Given the description of an element on the screen output the (x, y) to click on. 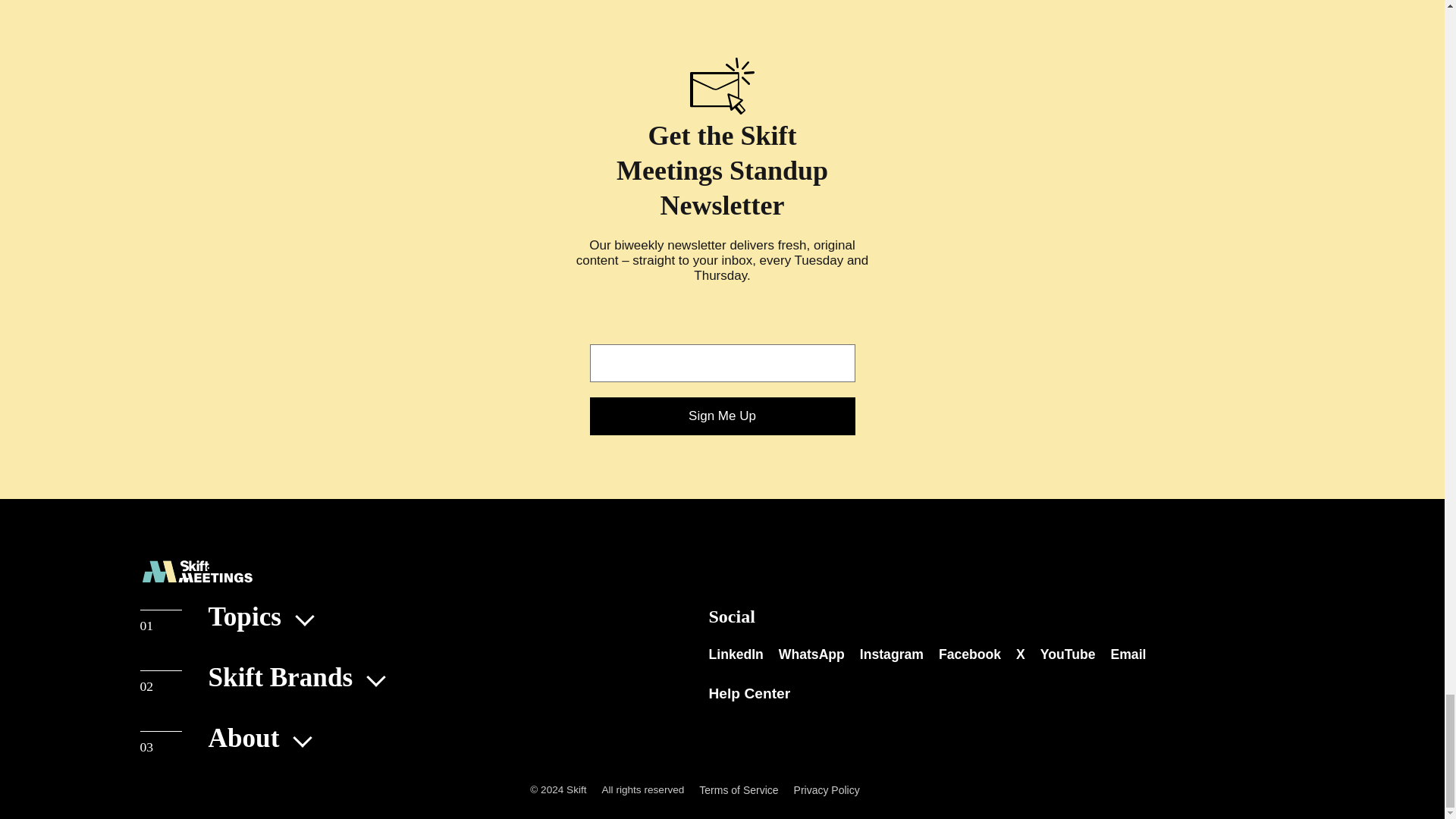
Sign Me Up (722, 415)
